Given the description of an element on the screen output the (x, y) to click on. 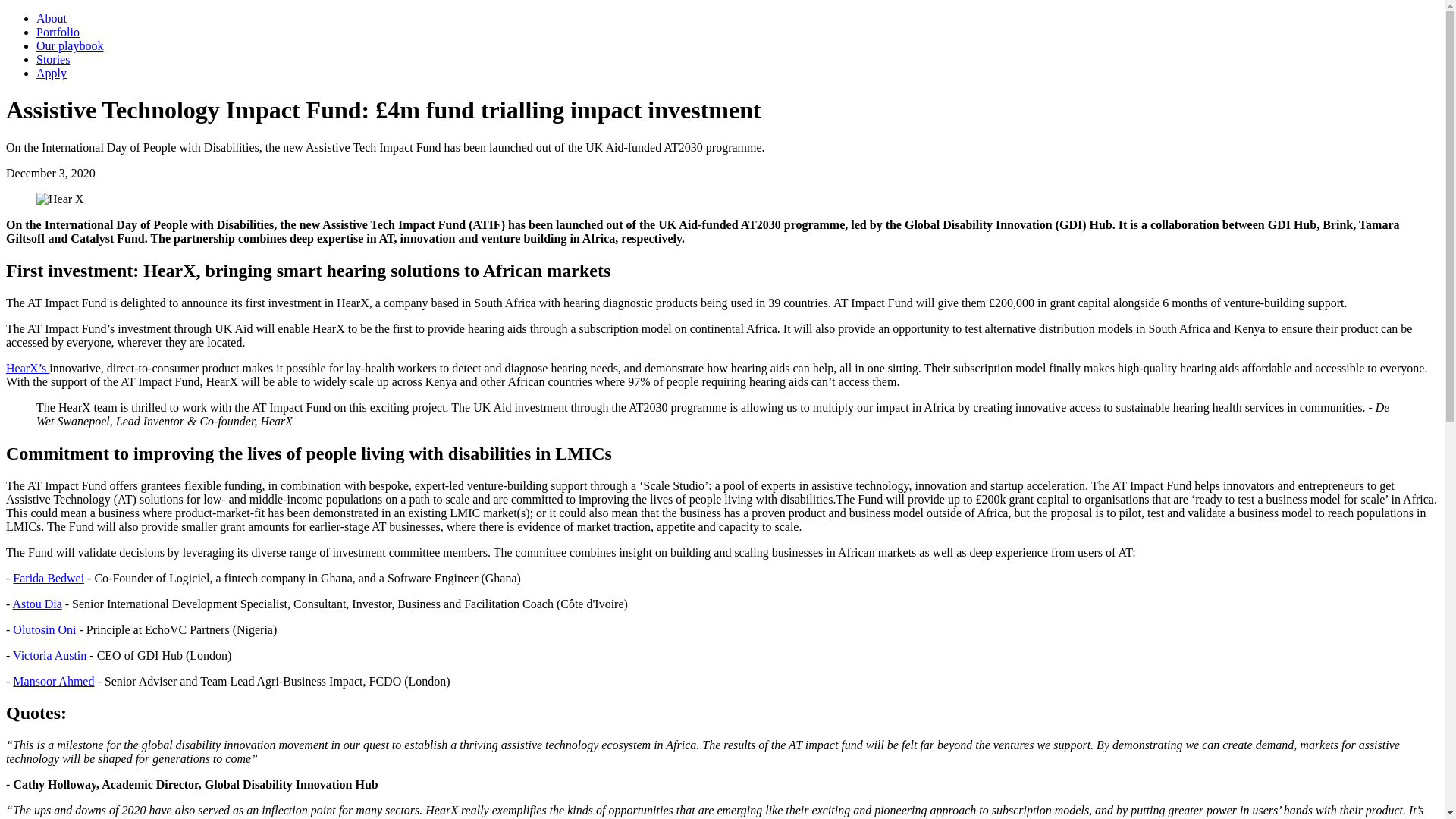
Victoria Austin (49, 655)
About (51, 18)
Mansoor Ahmed (53, 680)
Farida Bedwei (48, 577)
Apply (51, 72)
Olutosin Oni (44, 629)
Our playbook (69, 45)
Portfolio (58, 31)
Astou Dia (36, 603)
Stories (52, 59)
